Given the description of an element on the screen output the (x, y) to click on. 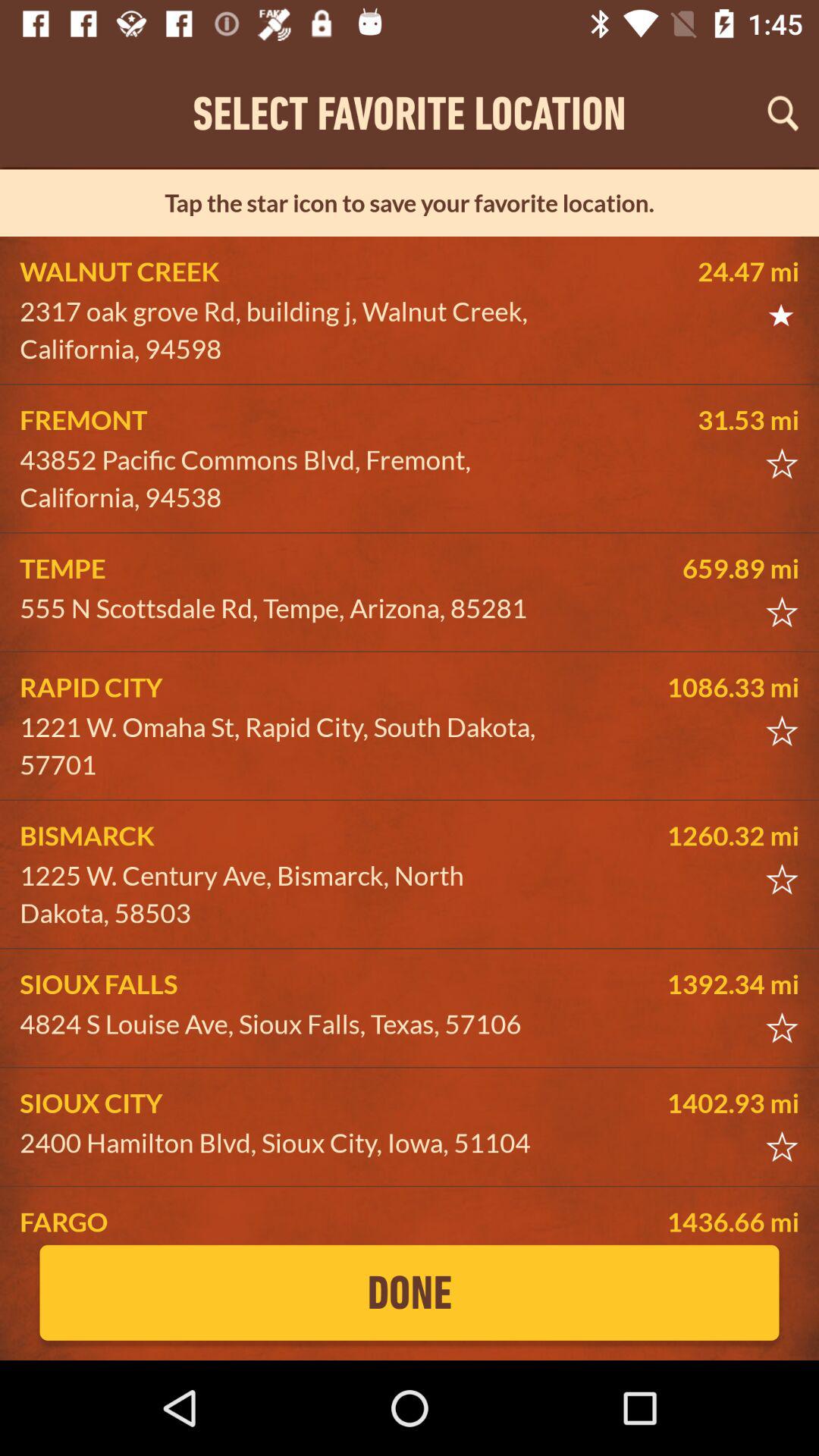
turn off the item to the right of tempe (685, 568)
